Given the description of an element on the screen output the (x, y) to click on. 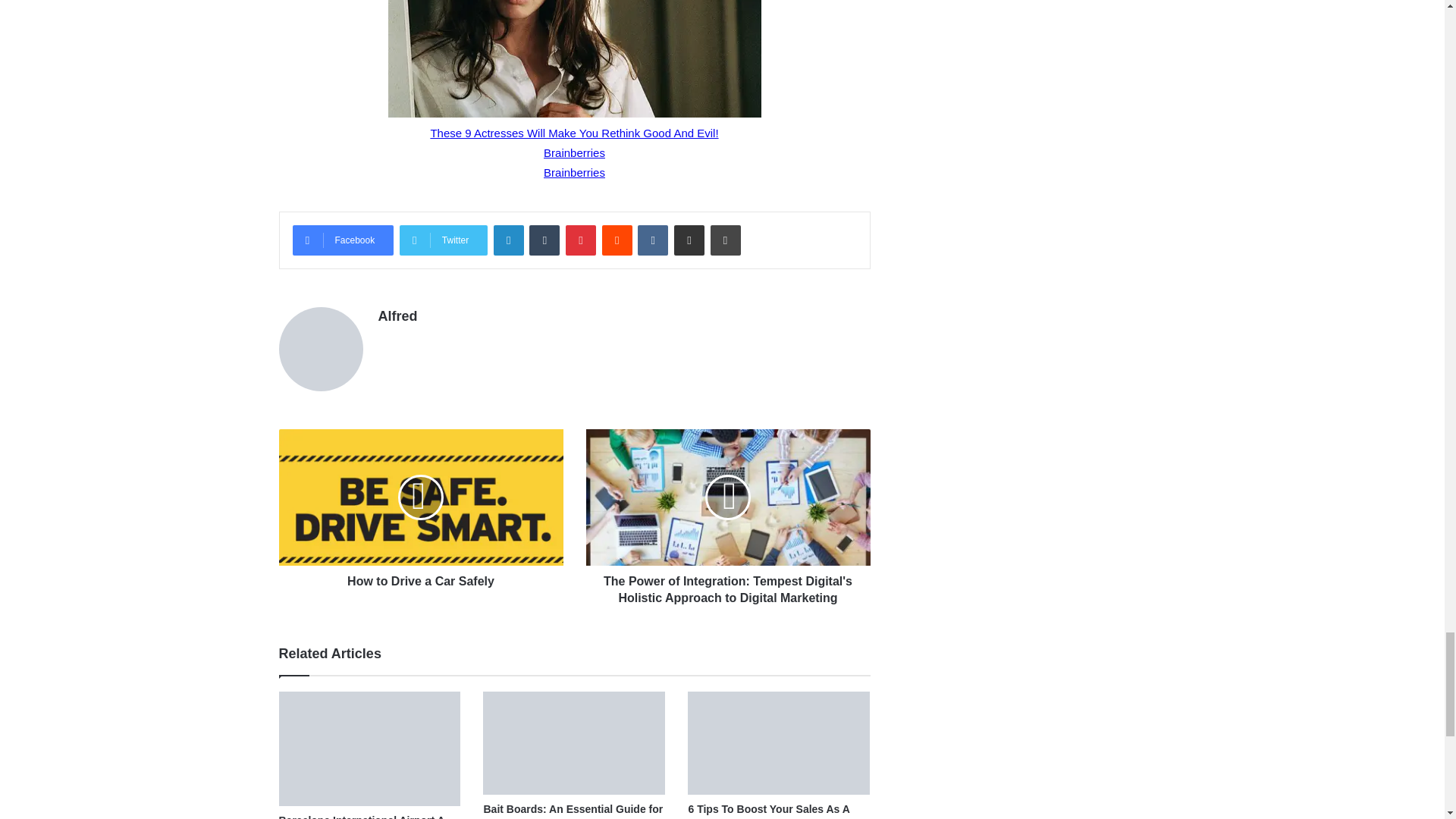
Twitter (442, 240)
LinkedIn (508, 240)
Pinterest (580, 240)
Share via Email (689, 240)
Pinterest (580, 240)
Share via Email (689, 240)
Tumblr (544, 240)
Alfred (396, 315)
LinkedIn (508, 240)
Tumblr (544, 240)
Print (725, 240)
Reddit (616, 240)
VKontakte (652, 240)
